Given the description of an element on the screen output the (x, y) to click on. 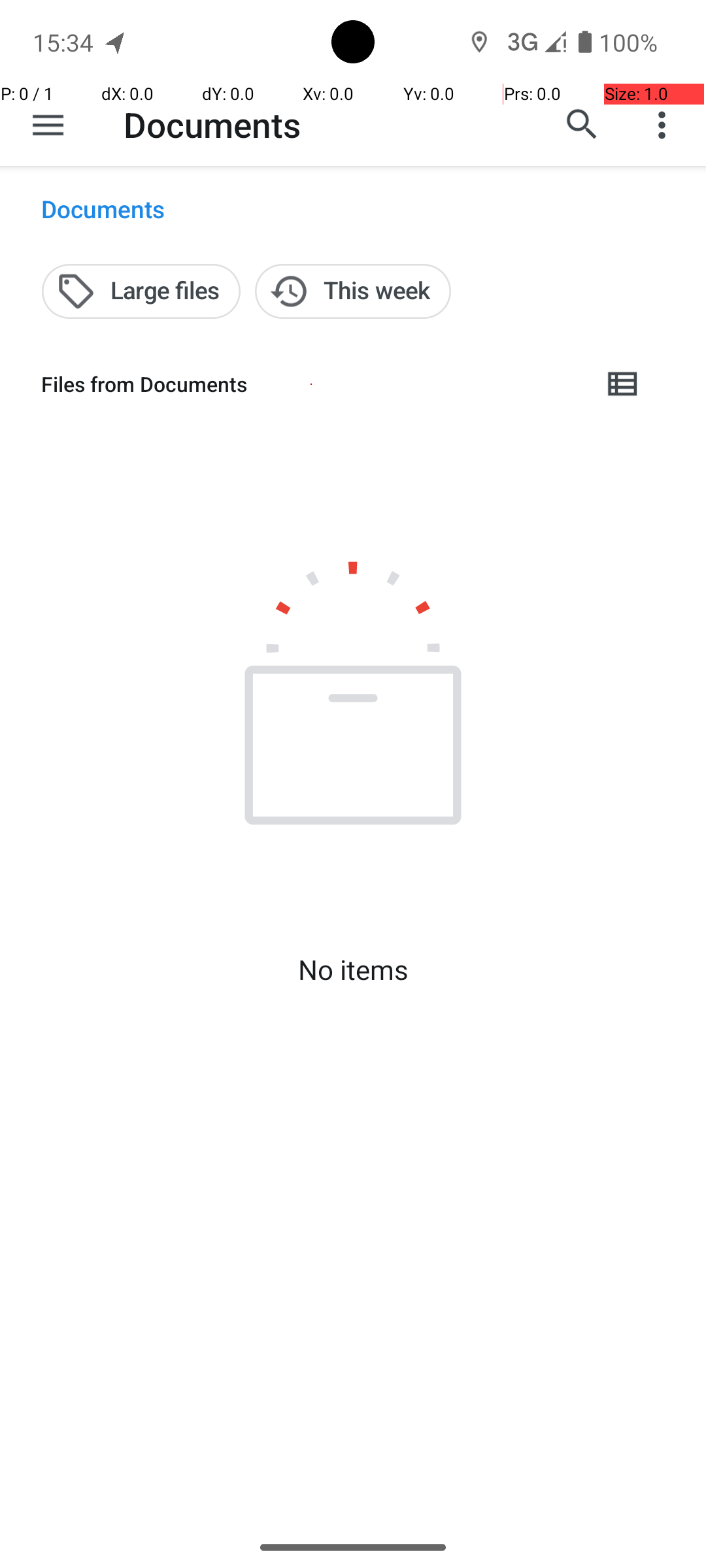
Files from Documents Element type: android.widget.TextView (311, 383)
